Given the description of an element on the screen output the (x, y) to click on. 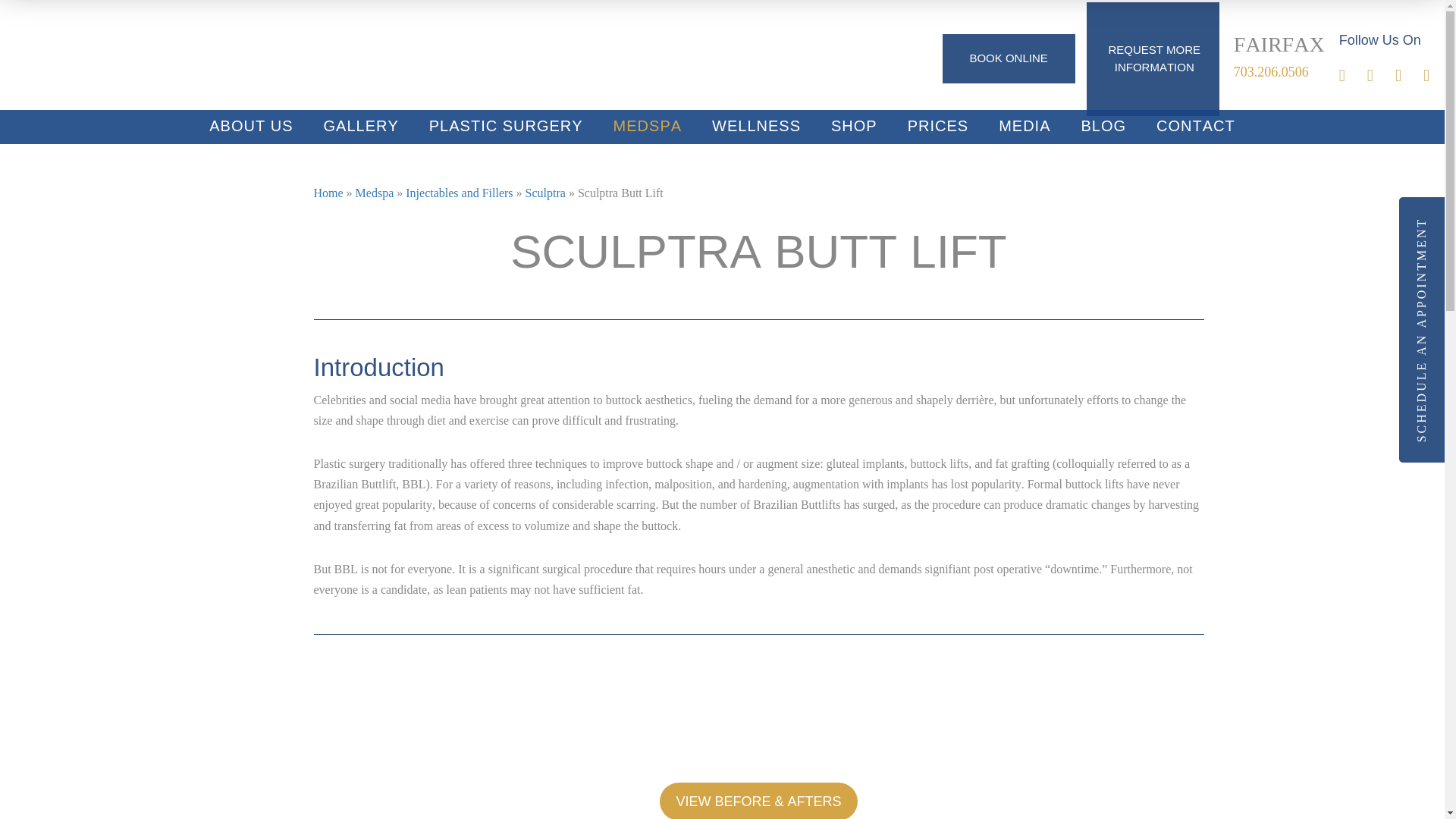
Bitar Cosmetic Surgery Institute (128, 56)
facebook (1353, 76)
youtube (1408, 76)
instagram (1380, 76)
